Given the description of an element on the screen output the (x, y) to click on. 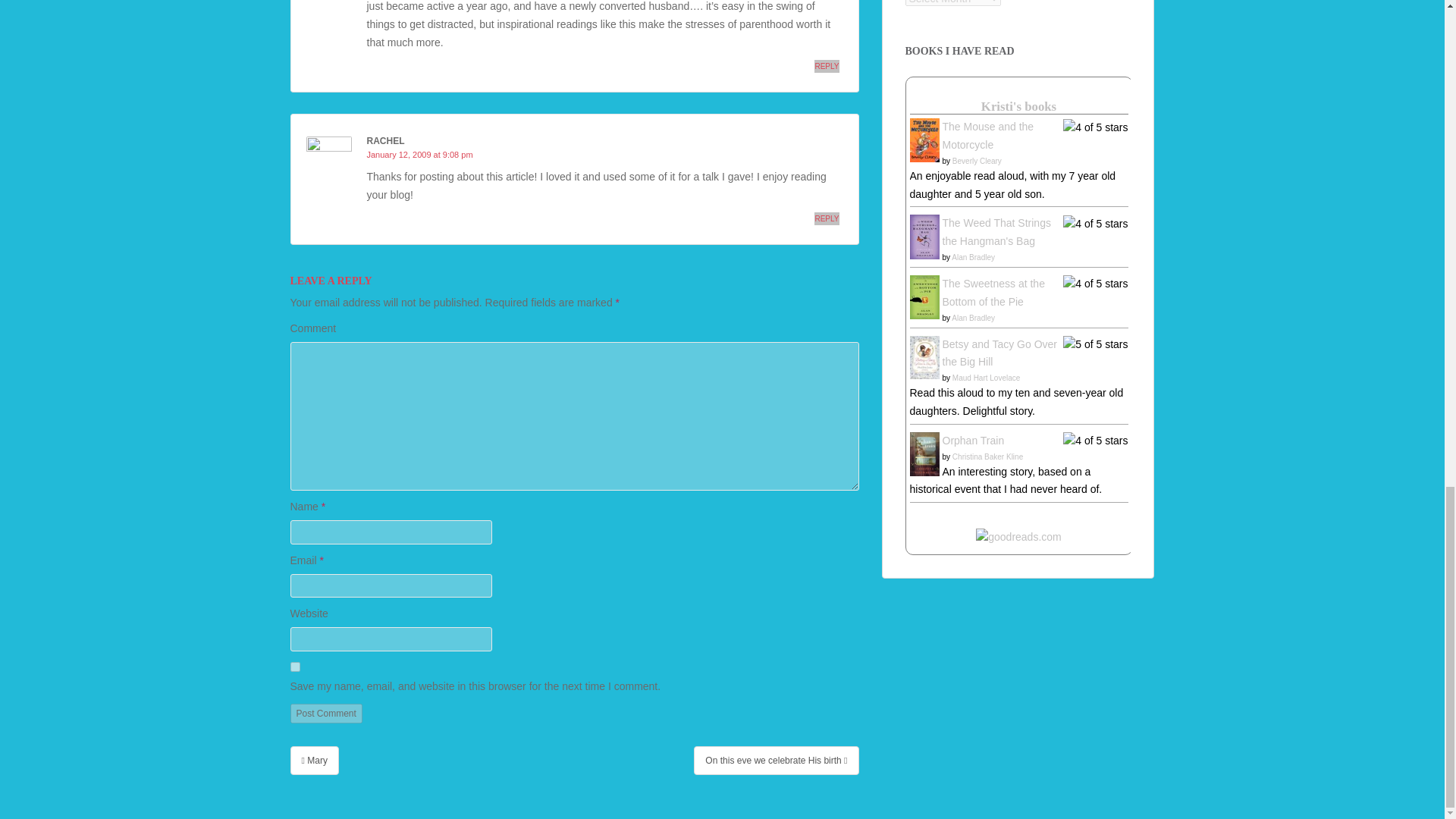
4 of 5 stars, really liked it (1094, 127)
5 of 5 stars, it was amazing (1094, 344)
Post Comment (325, 713)
On this eve we celebrate His birth (776, 760)
REPLY (825, 218)
Kristi's books (1019, 106)
Mary (313, 760)
REPLY (825, 65)
4 of 5 stars, really liked it (1094, 441)
yes (294, 666)
